Given the description of an element on the screen output the (x, y) to click on. 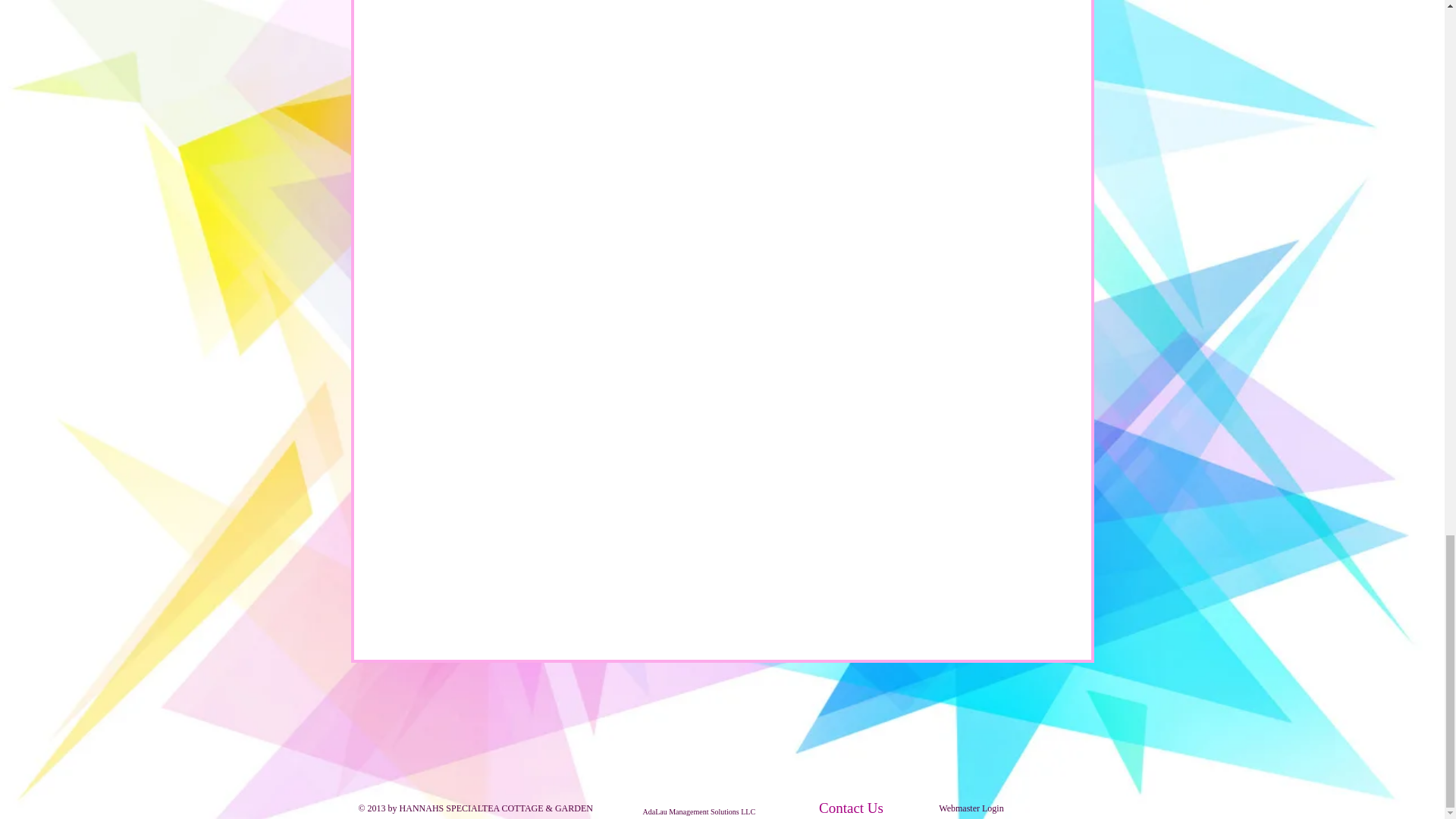
Webmaster Login (970, 809)
Embedded Content (706, 730)
